Given the description of an element on the screen output the (x, y) to click on. 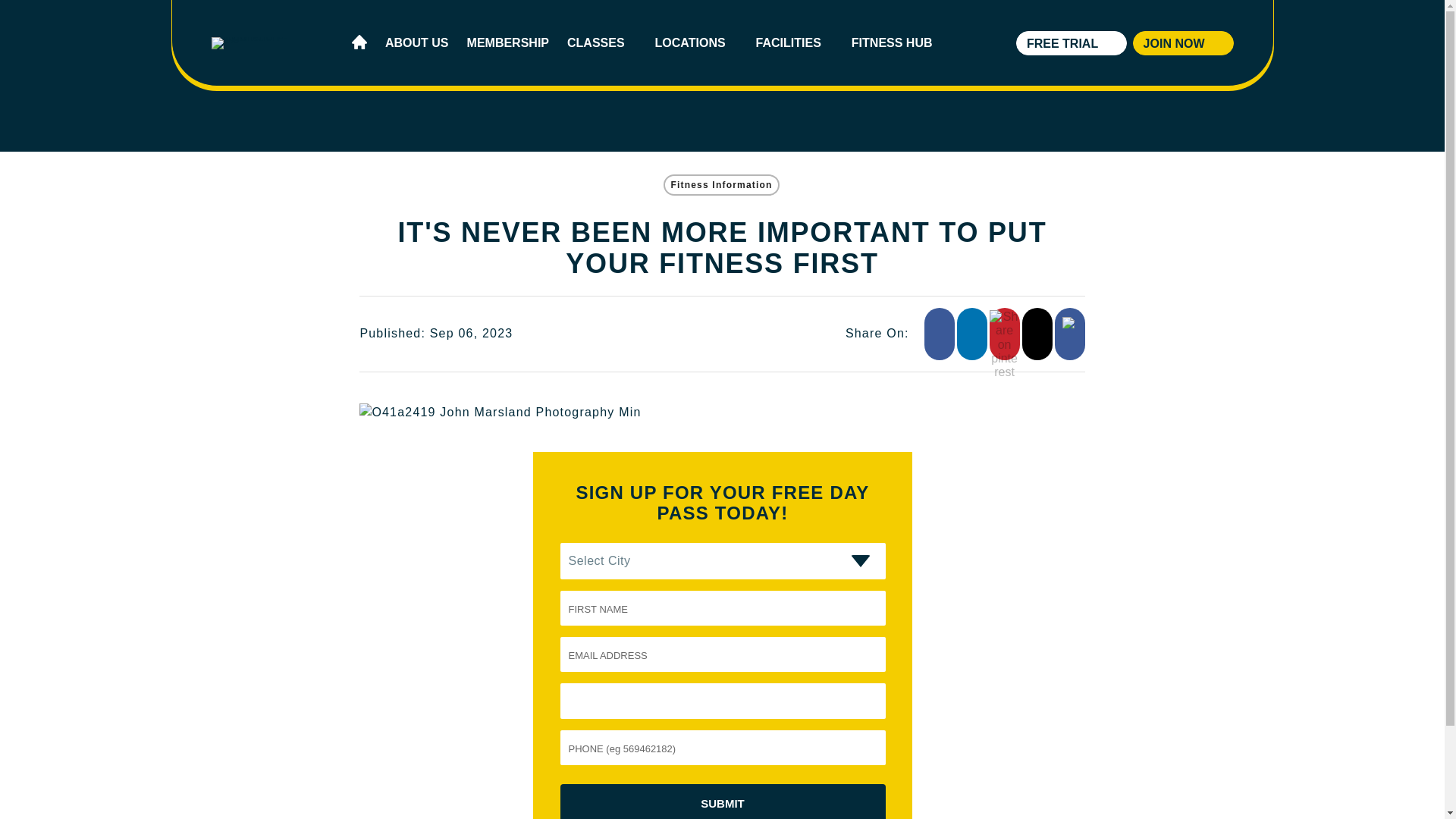
LOCATIONS (696, 43)
Fitness Hub (897, 43)
Locations (696, 43)
About us (416, 43)
Home (359, 43)
MEMBERSHIP (507, 43)
Membership (507, 43)
Classes (602, 43)
ABOUT US (416, 43)
Facilities (793, 43)
